Given the description of an element on the screen output the (x, y) to click on. 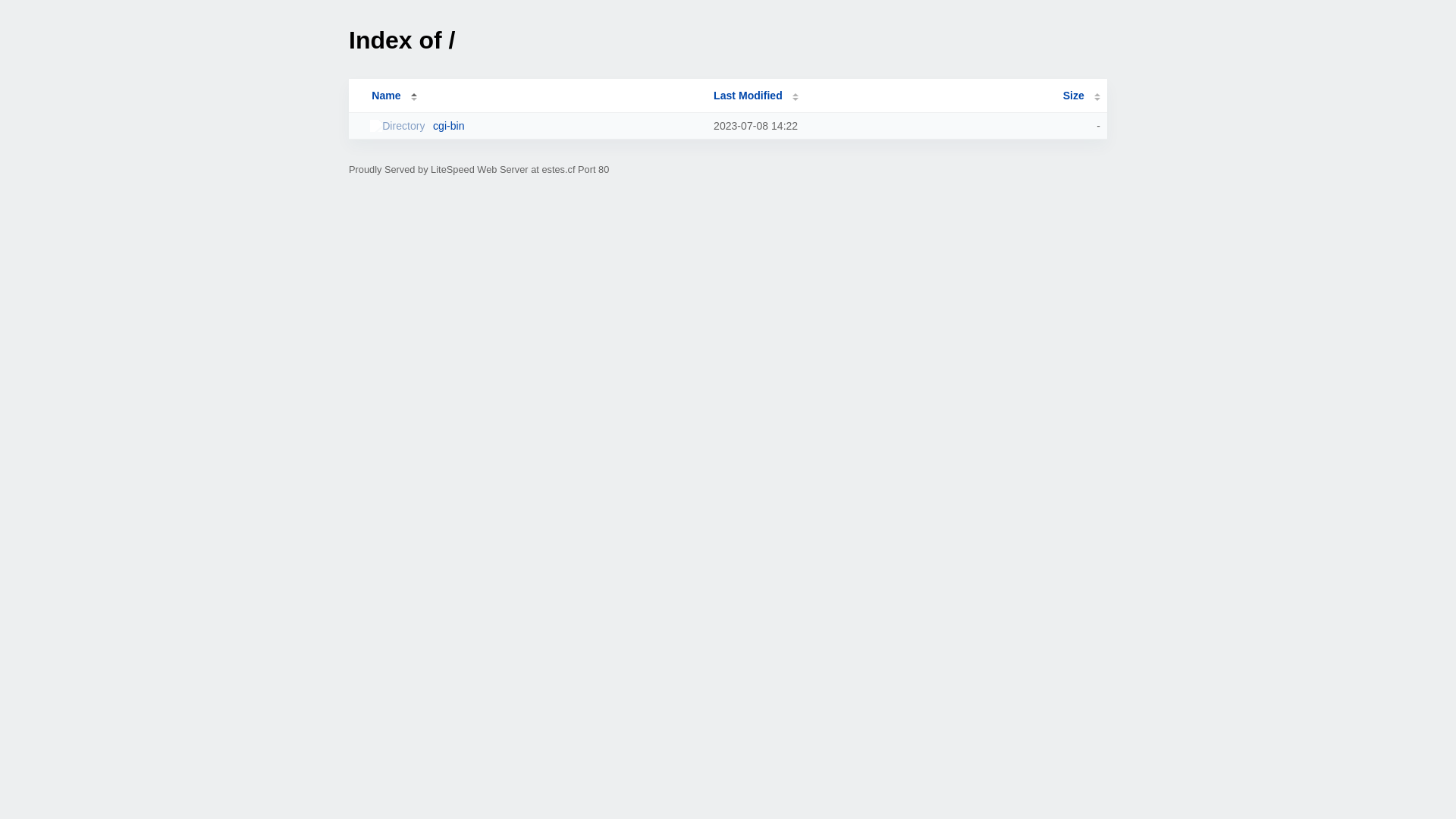
Size Element type: text (1081, 95)
Name Element type: text (385, 95)
Last Modified Element type: text (755, 95)
cgi-bin Element type: text (534, 125)
